Given the description of an element on the screen output the (x, y) to click on. 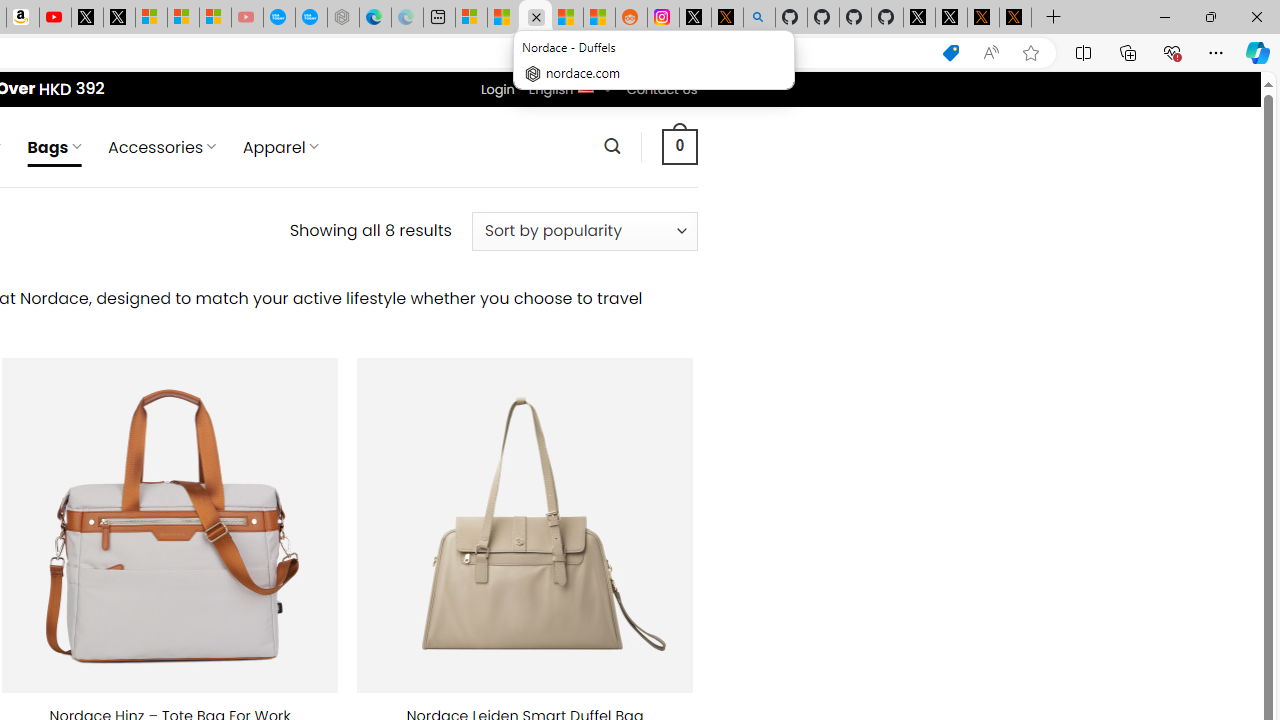
GitHub (@github) / X (950, 17)
Nordace - Duffels (535, 17)
